Given the description of an element on the screen output the (x, y) to click on. 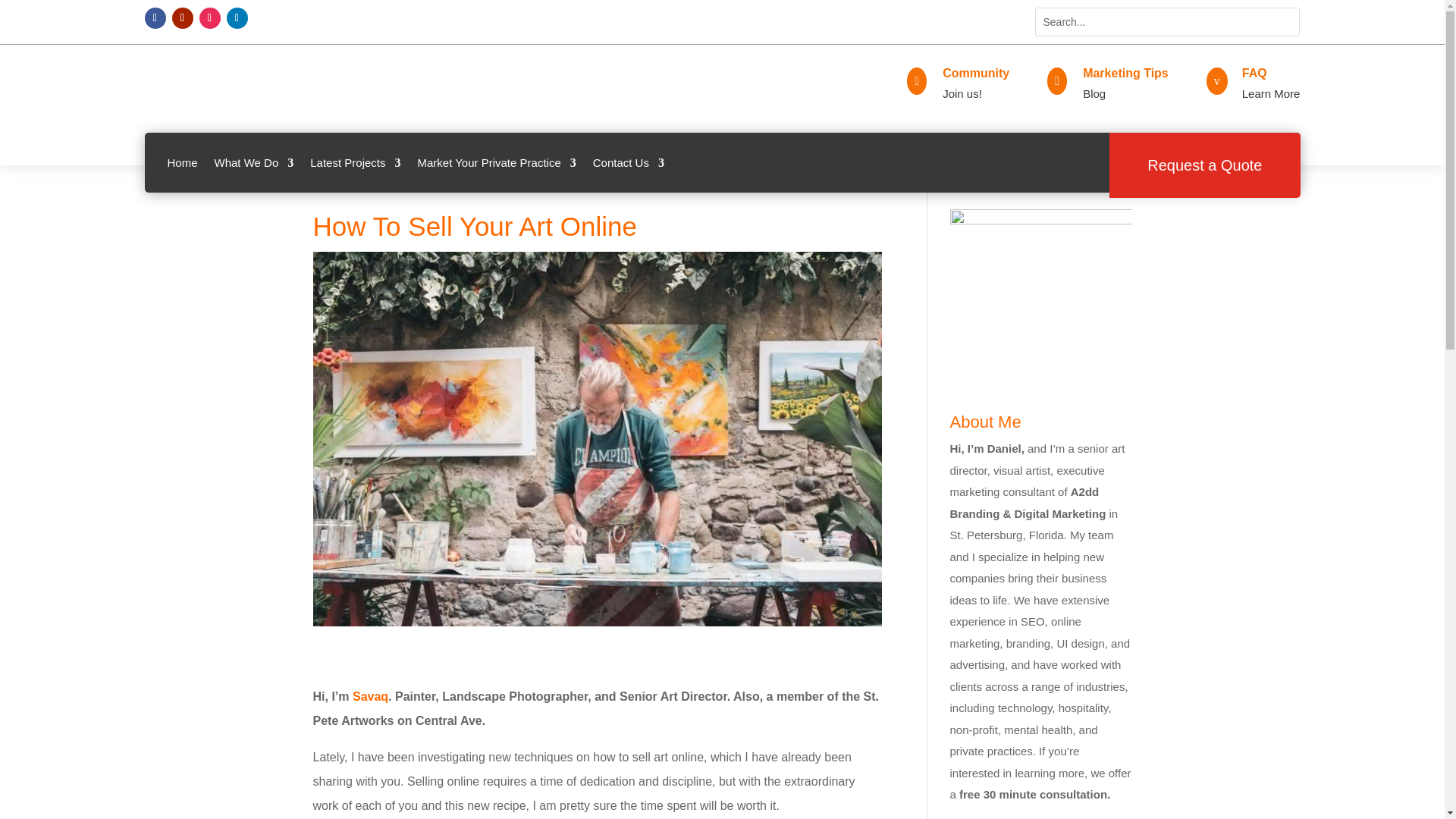
Community (975, 72)
Contact Us (627, 161)
Follow on Instagram (208, 17)
What We Do (254, 161)
Follow on Facebook (154, 17)
Follow on Youtube (181, 17)
Market Your Private Practice (495, 161)
Marketing Tips (1126, 72)
Search (24, 13)
FAQ (1253, 72)
Follow on LinkedIn (236, 17)
Latest Projects (355, 161)
